Given the description of an element on the screen output the (x, y) to click on. 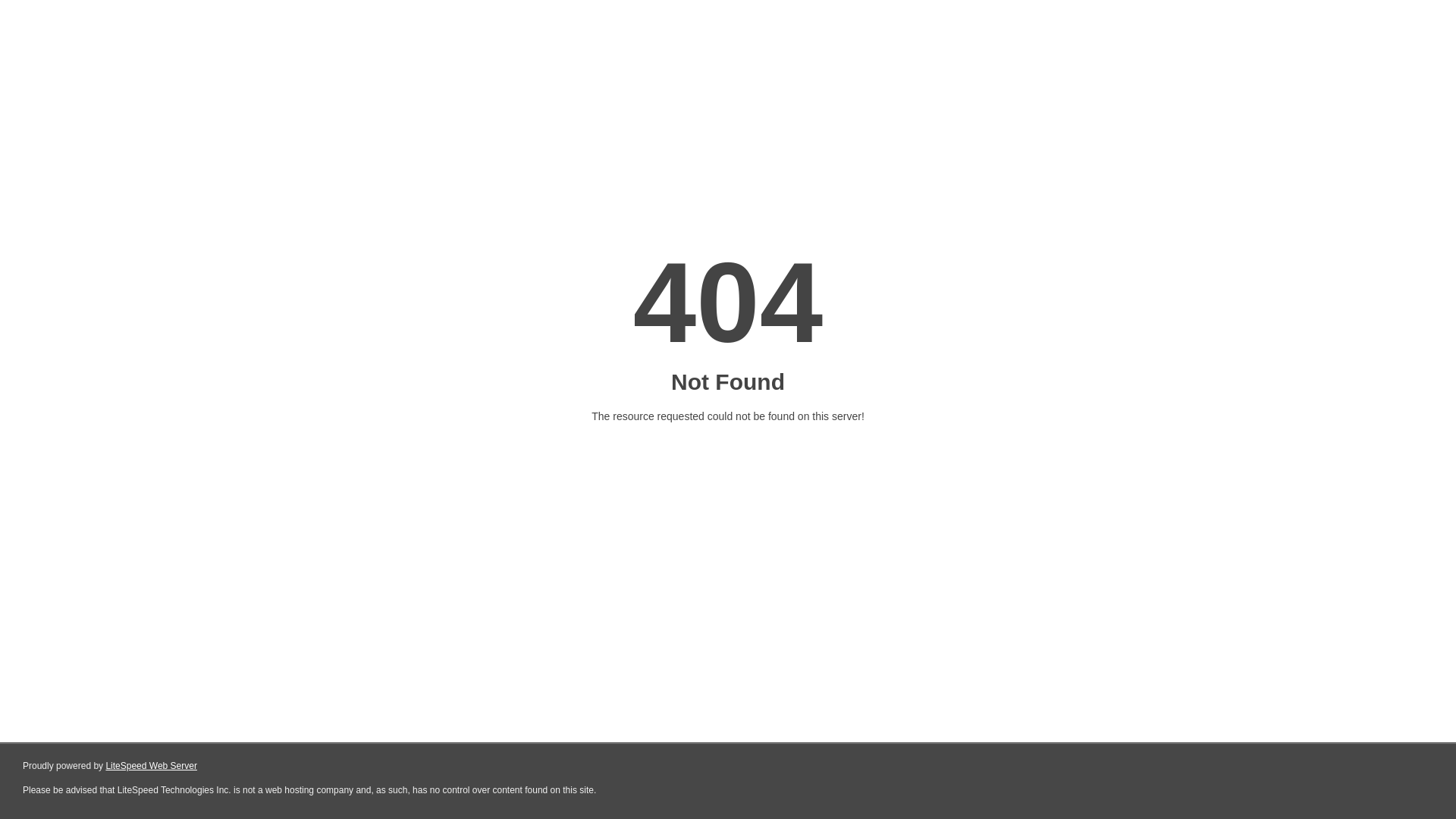
LiteSpeed Web Server Element type: text (151, 765)
